Given the description of an element on the screen output the (x, y) to click on. 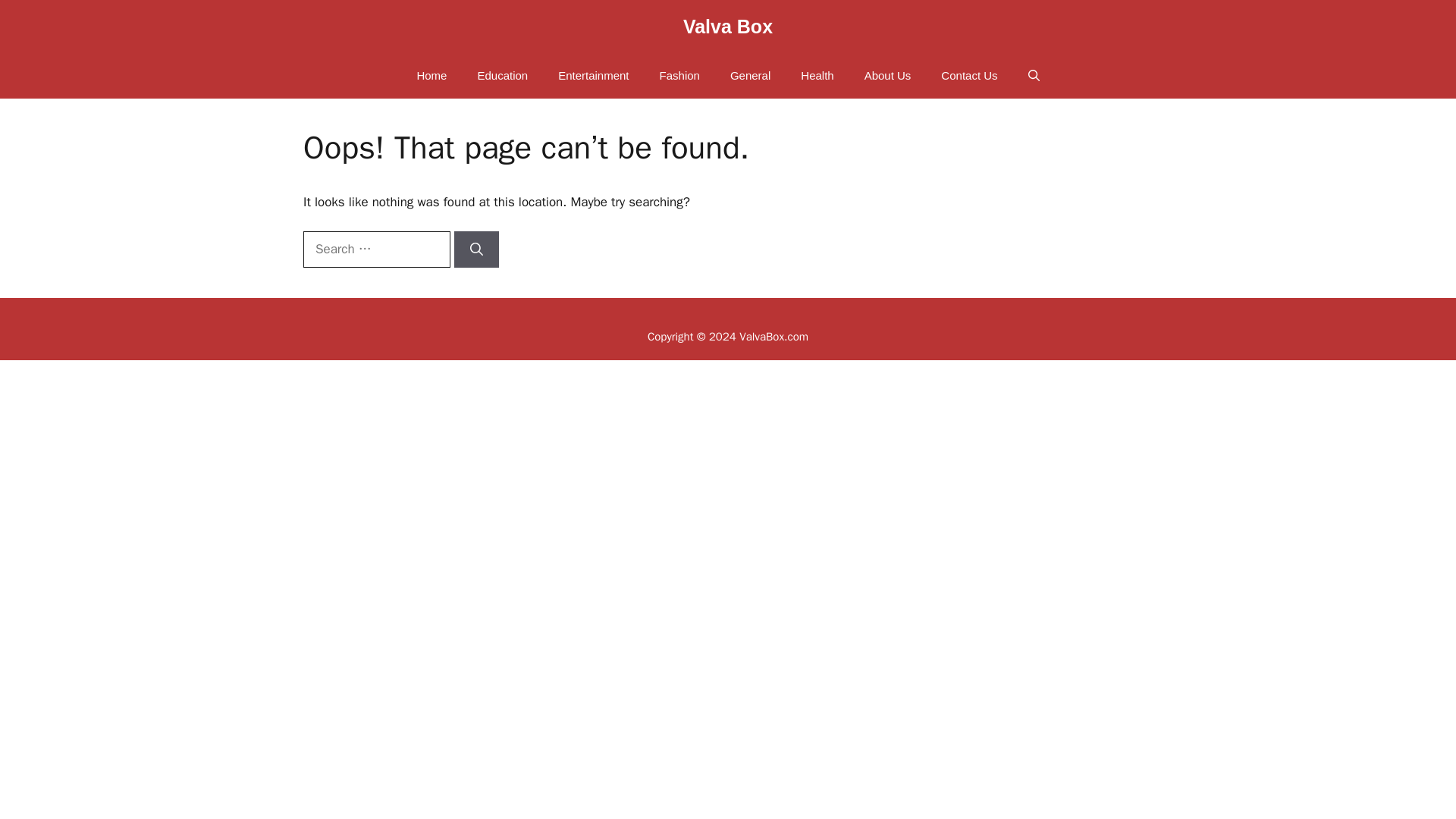
Contact Us (968, 75)
About Us (887, 75)
General (750, 75)
Valva Box (727, 25)
Health (817, 75)
Entertainment (593, 75)
Fashion (679, 75)
Home (431, 75)
Education (502, 75)
Search for: (375, 248)
